Given the description of an element on the screen output the (x, y) to click on. 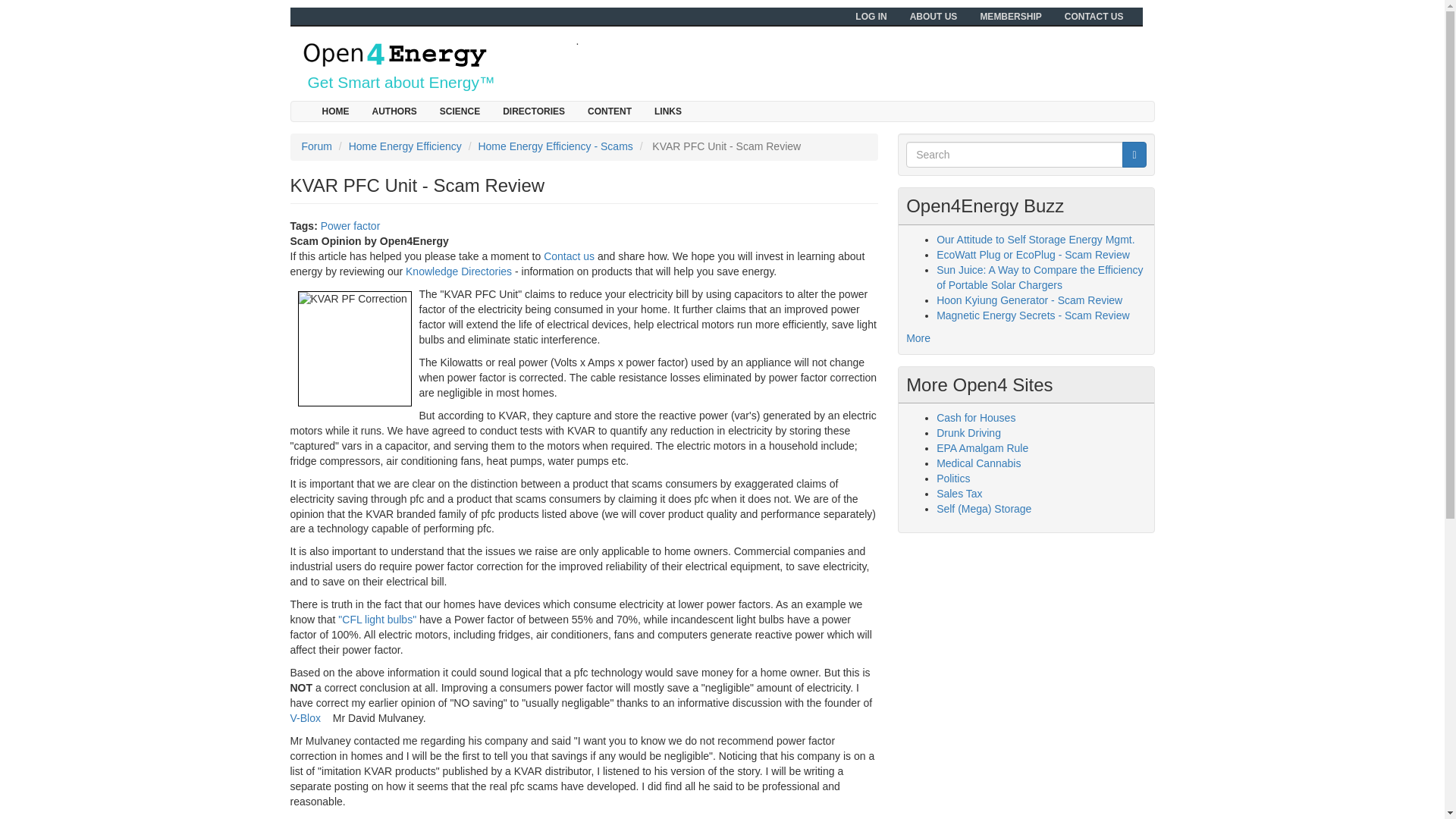
LINKS (668, 111)
CONTENT (609, 111)
Home Energy Efficiency (405, 146)
SCIENCE (460, 111)
Forum (316, 146)
KVAR PF Correction (353, 348)
EcoWatt Plug or EcoPlug - Scam Review (1032, 254)
AUTHORS (394, 111)
Knowledge Directories (459, 271)
"CFL light bulbs" (376, 619)
Power factor (350, 225)
Our Attitude to Self Storage Energy Mgmt. (1035, 239)
Hoon Kyiung Generator - Scam Review (1029, 300)
ABOUT US (933, 16)
DIRECTORIES (534, 111)
